Given the description of an element on the screen output the (x, y) to click on. 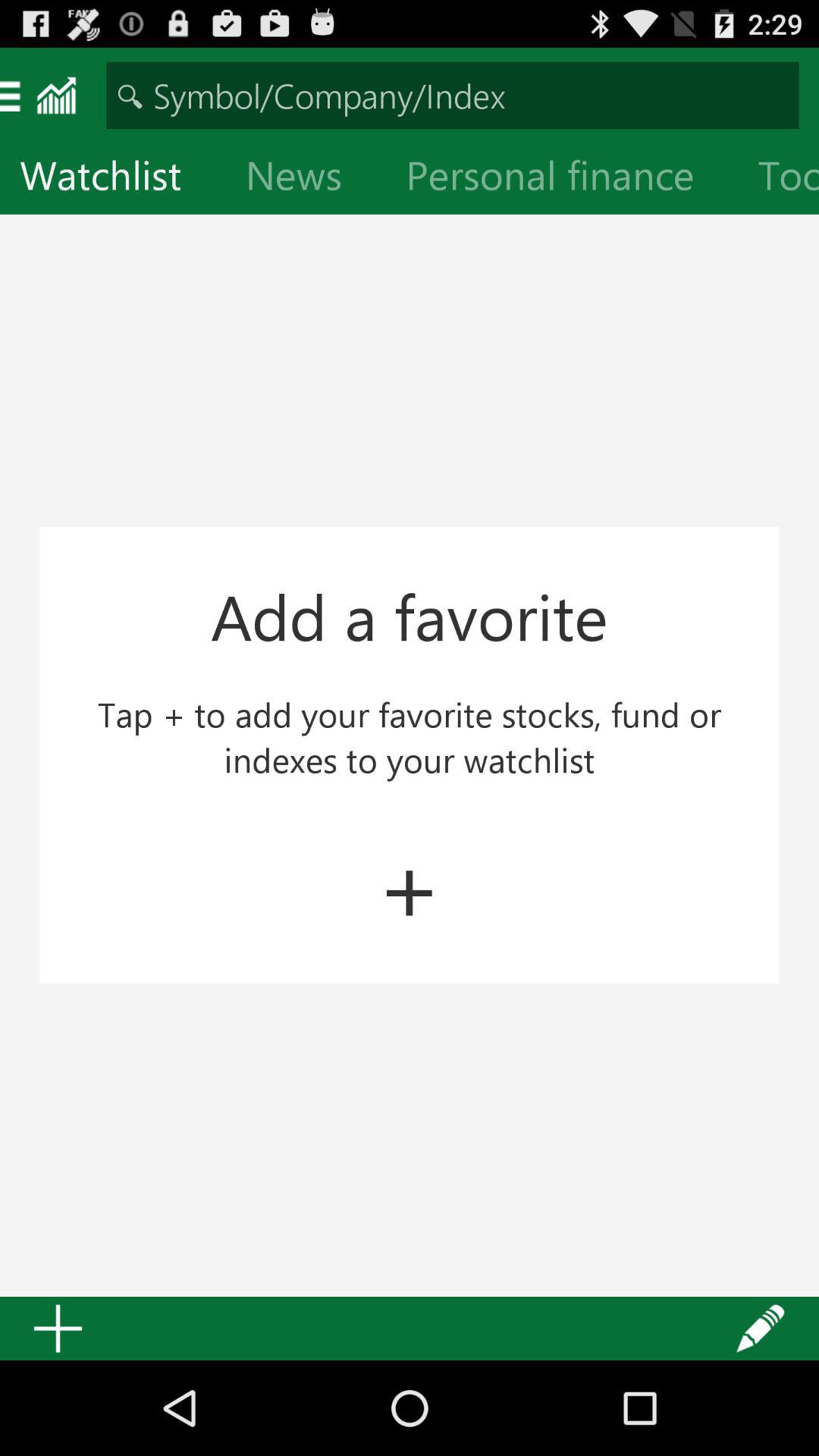
scroll to the tools item (778, 178)
